Given the description of an element on the screen output the (x, y) to click on. 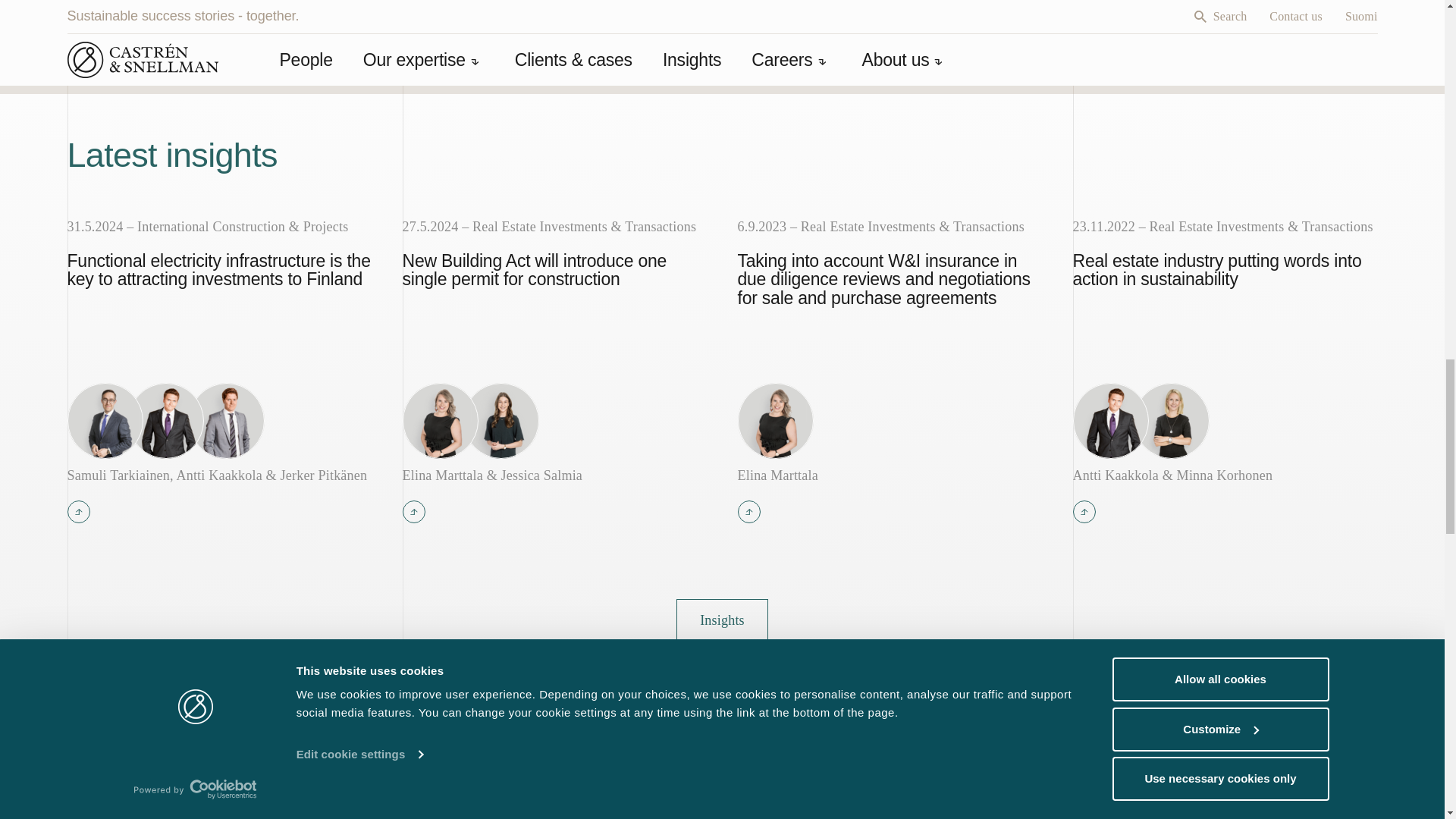
Elina Marttala (889, 475)
